Given the description of an element on the screen output the (x, y) to click on. 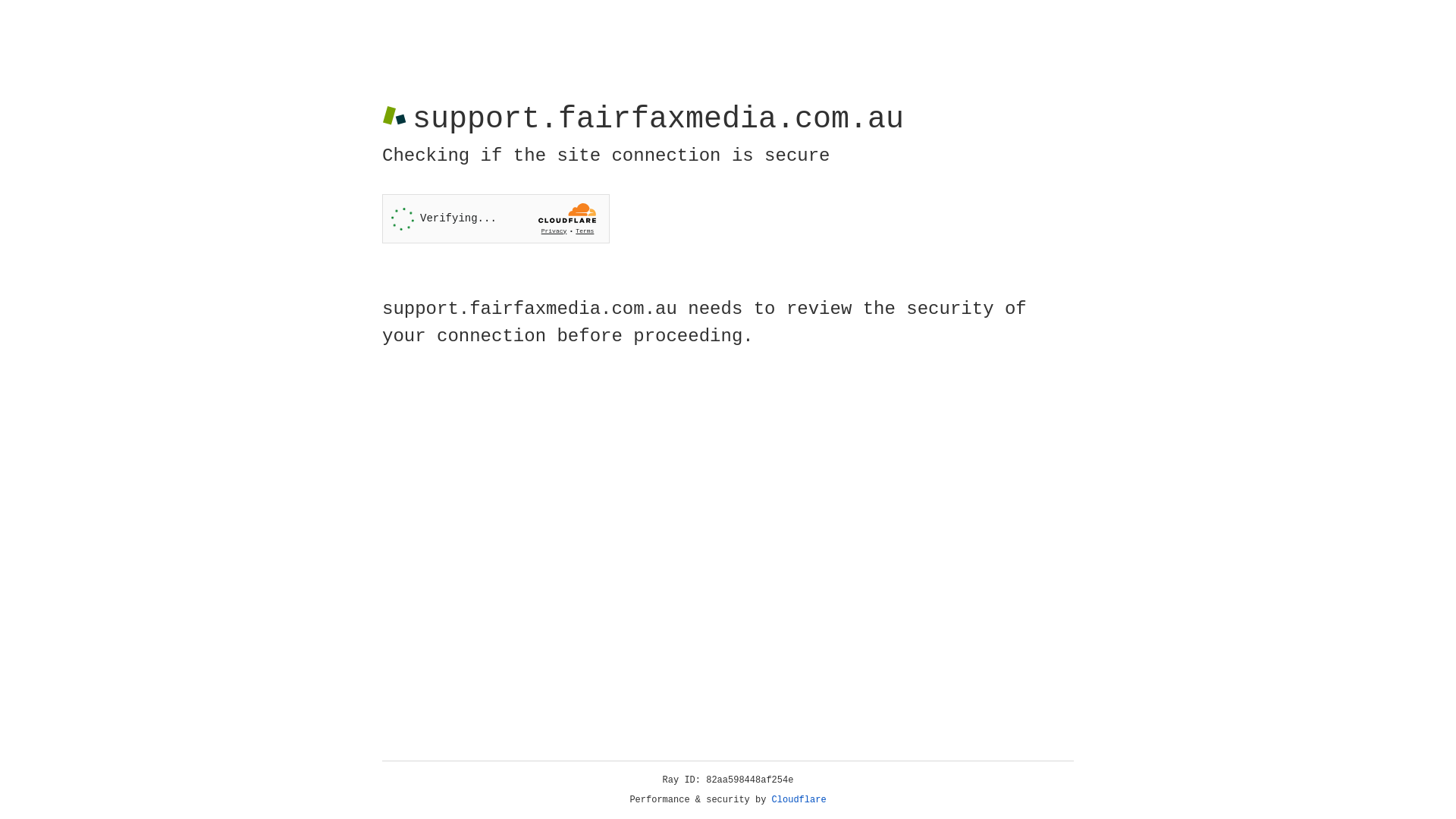
Widget containing a Cloudflare security challenge Element type: hover (495, 218)
Cloudflare Element type: text (798, 799)
